Given the description of an element on the screen output the (x, y) to click on. 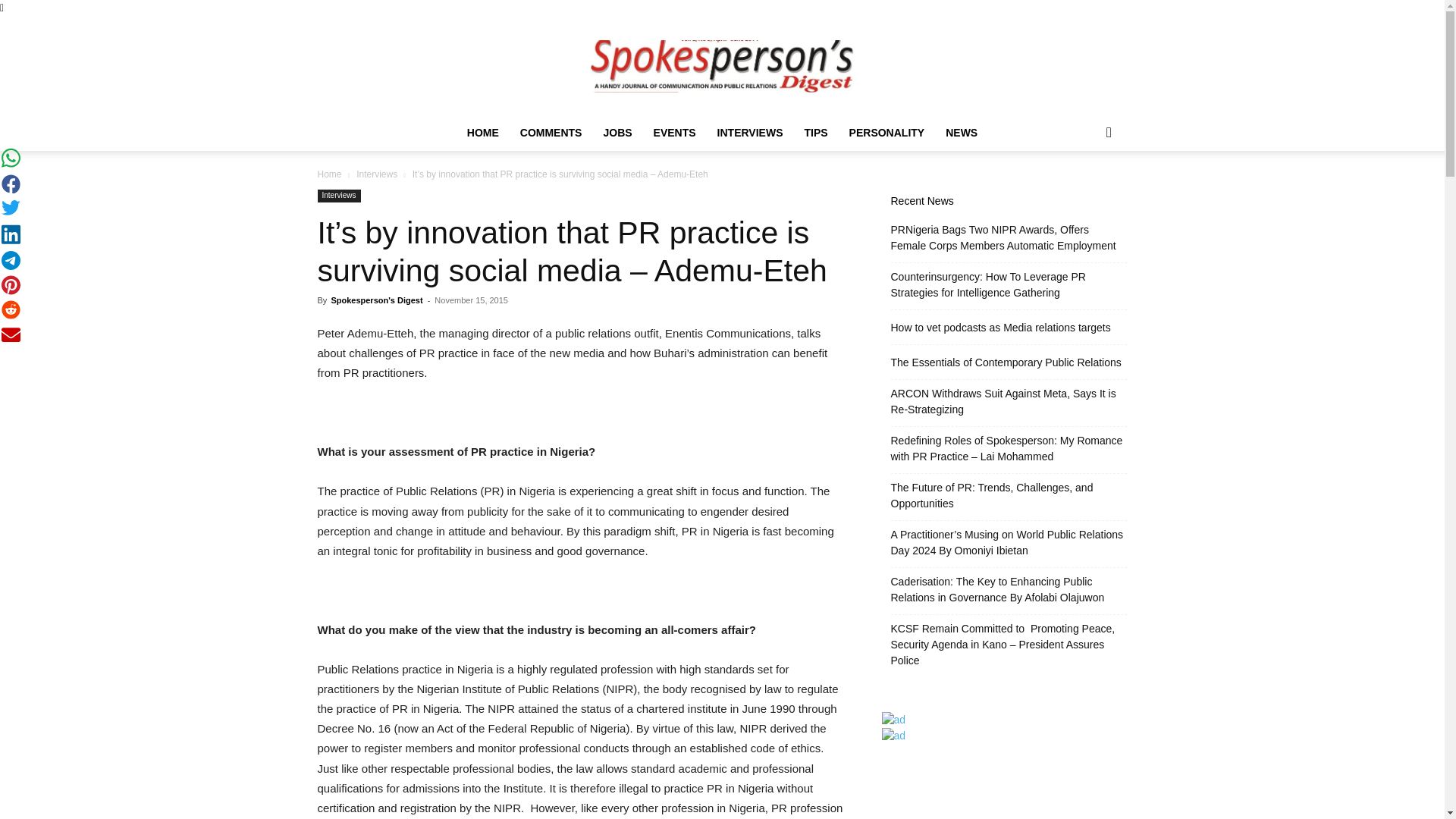
Interviews (376, 173)
JOBS (617, 132)
PERSONALITY (887, 132)
COMMENTS (550, 132)
Spokesperson's Digest (376, 299)
HOME (483, 132)
NEWS (961, 132)
Home (328, 173)
Interviews (338, 195)
View all posts in Interviews (376, 173)
